Given the description of an element on the screen output the (x, y) to click on. 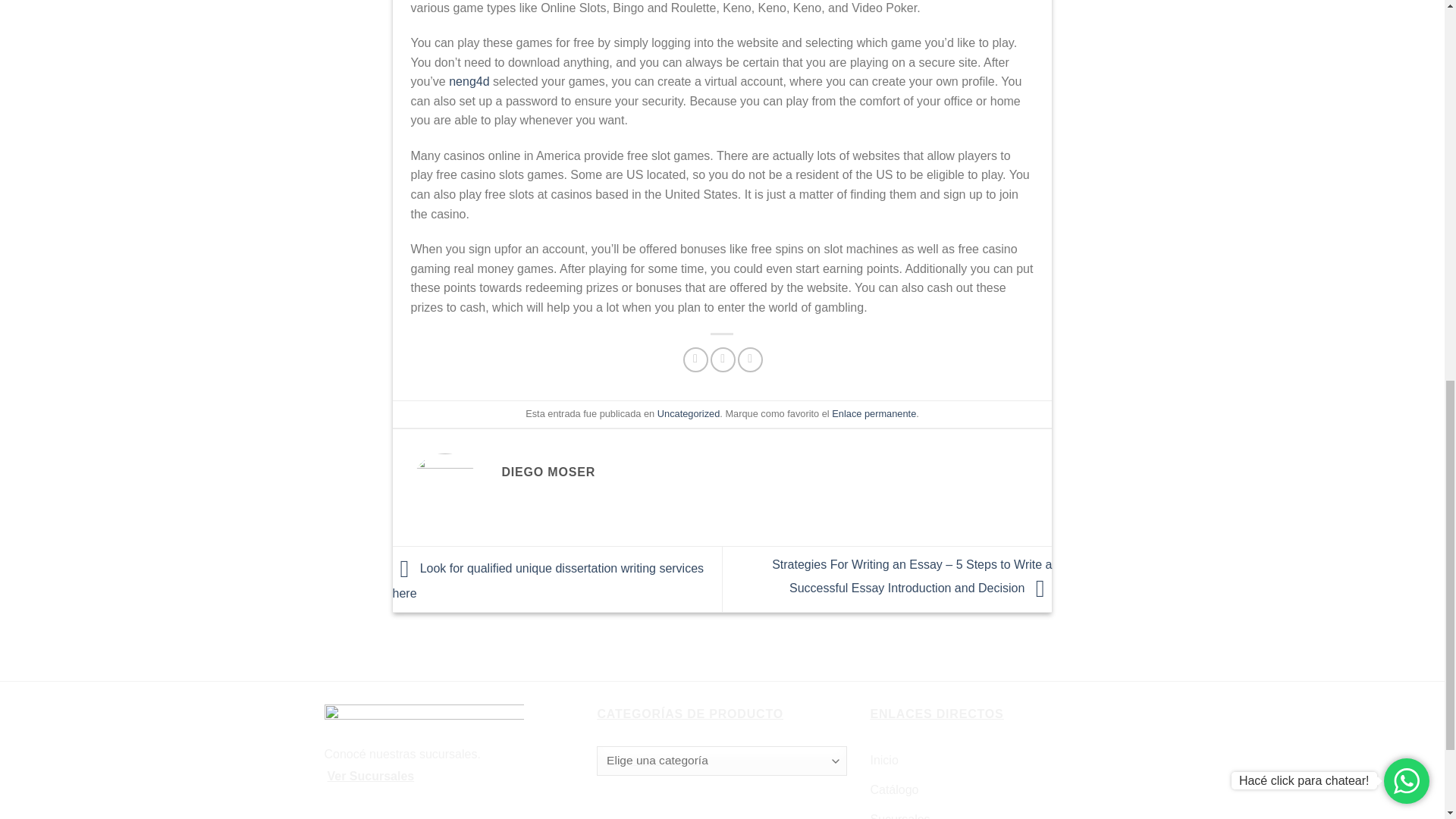
Compartir en Facebook (694, 359)
Compartir en Twitter (722, 359)
Enlace permanente a  (873, 413)
